Given the description of an element on the screen output the (x, y) to click on. 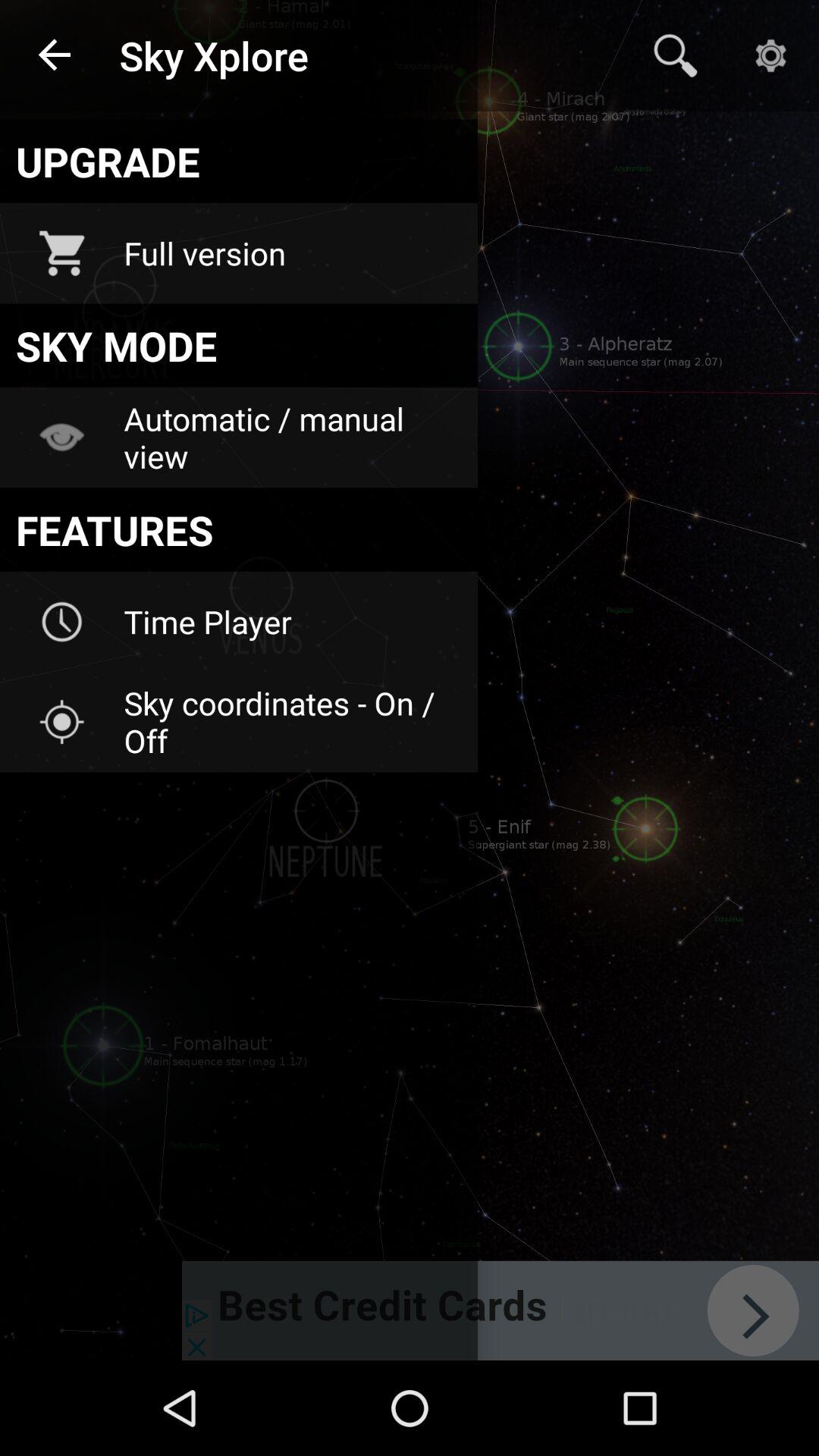
tap the app to the left of sky xplore (55, 55)
